Given the description of an element on the screen output the (x, y) to click on. 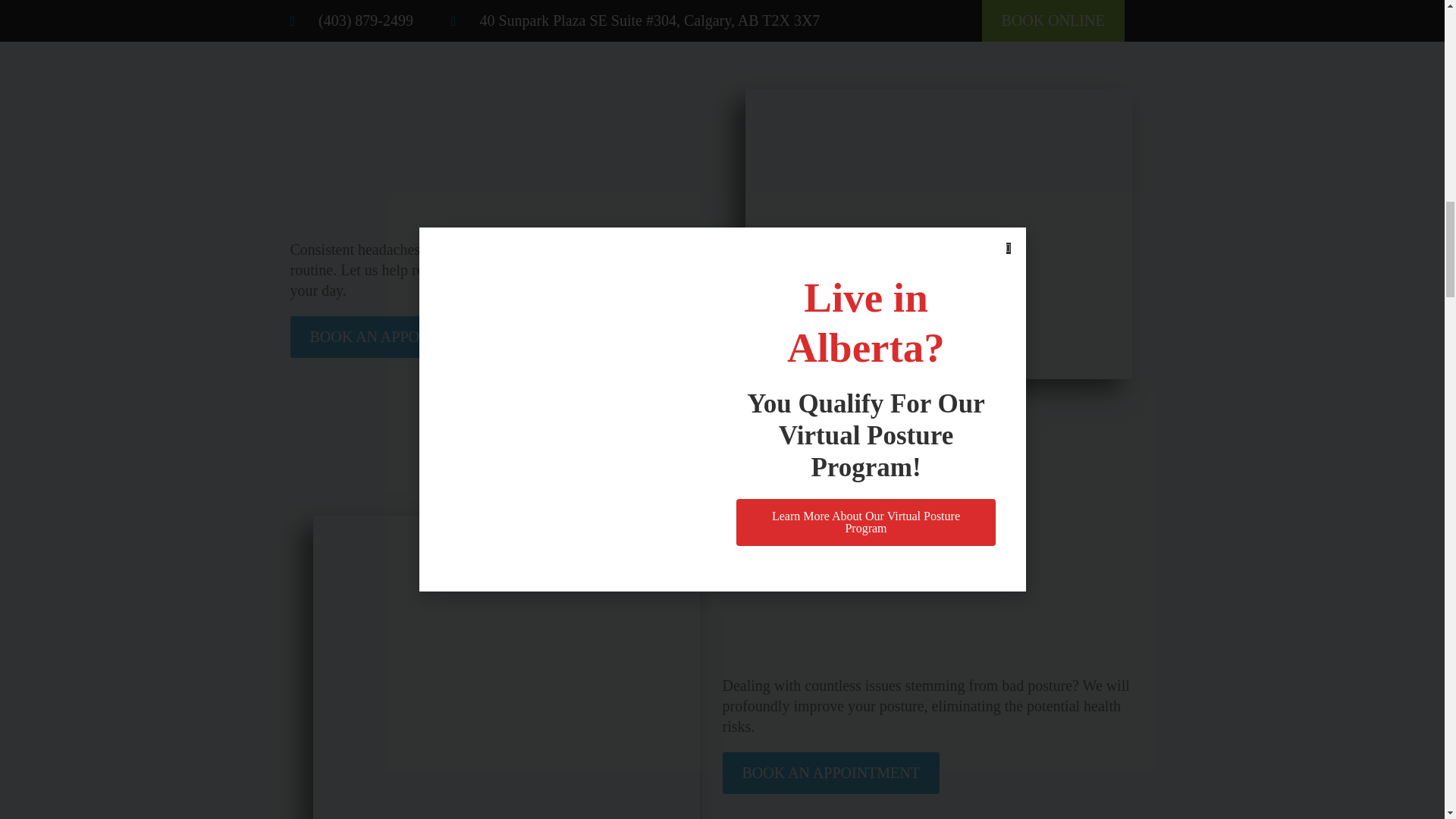
BOOK AN APPOINTMENT (830, 772)
BOOK AN APPOINTMENT (397, 336)
